Given the description of an element on the screen output the (x, y) to click on. 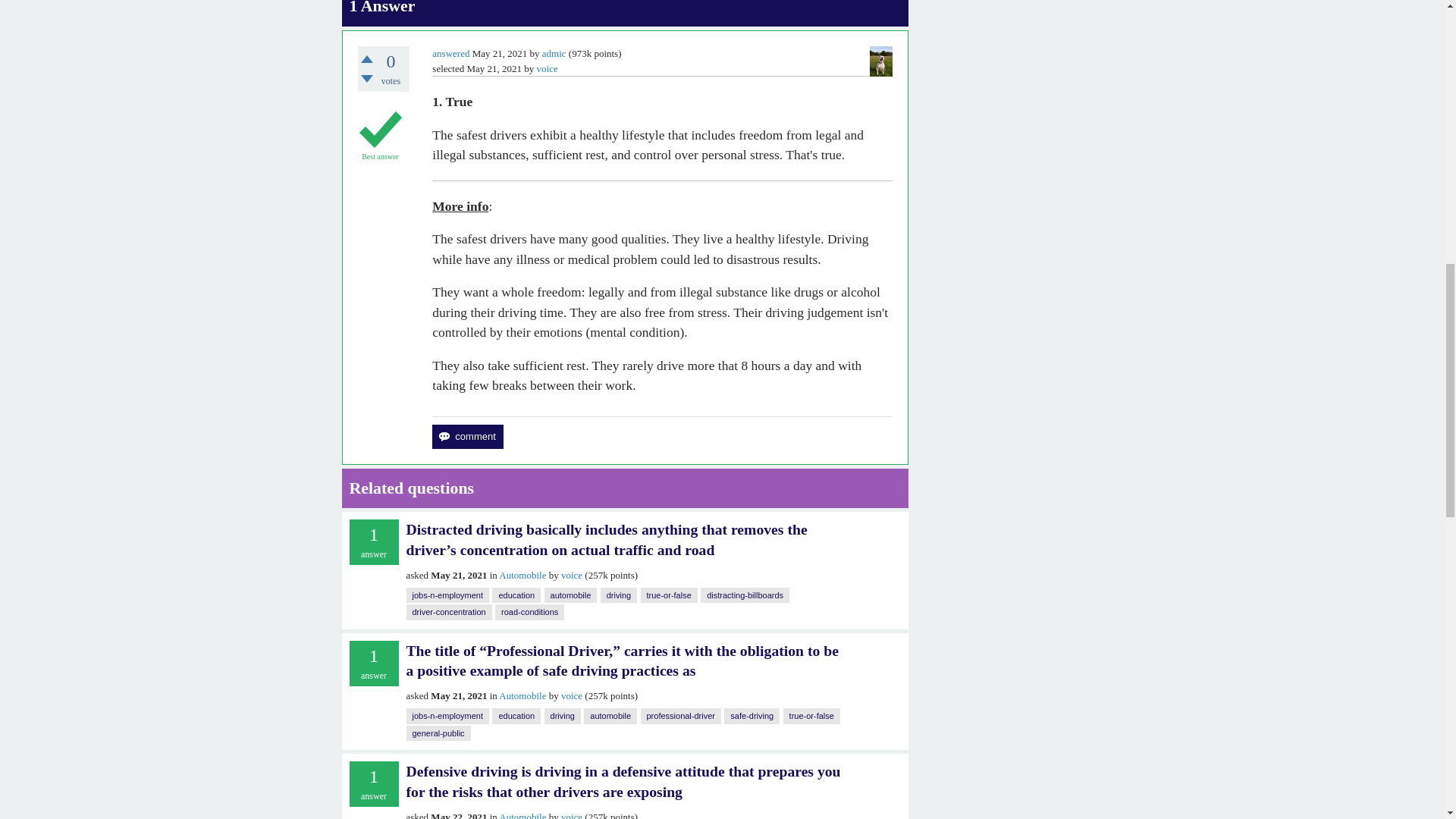
Add a comment on this answer (467, 436)
comment (467, 436)
Click to vote up (366, 59)
voice (571, 574)
comment (467, 436)
admic (553, 52)
Click to vote down (366, 78)
answered (450, 52)
voice (547, 68)
Automobile (522, 574)
